Given the description of an element on the screen output the (x, y) to click on. 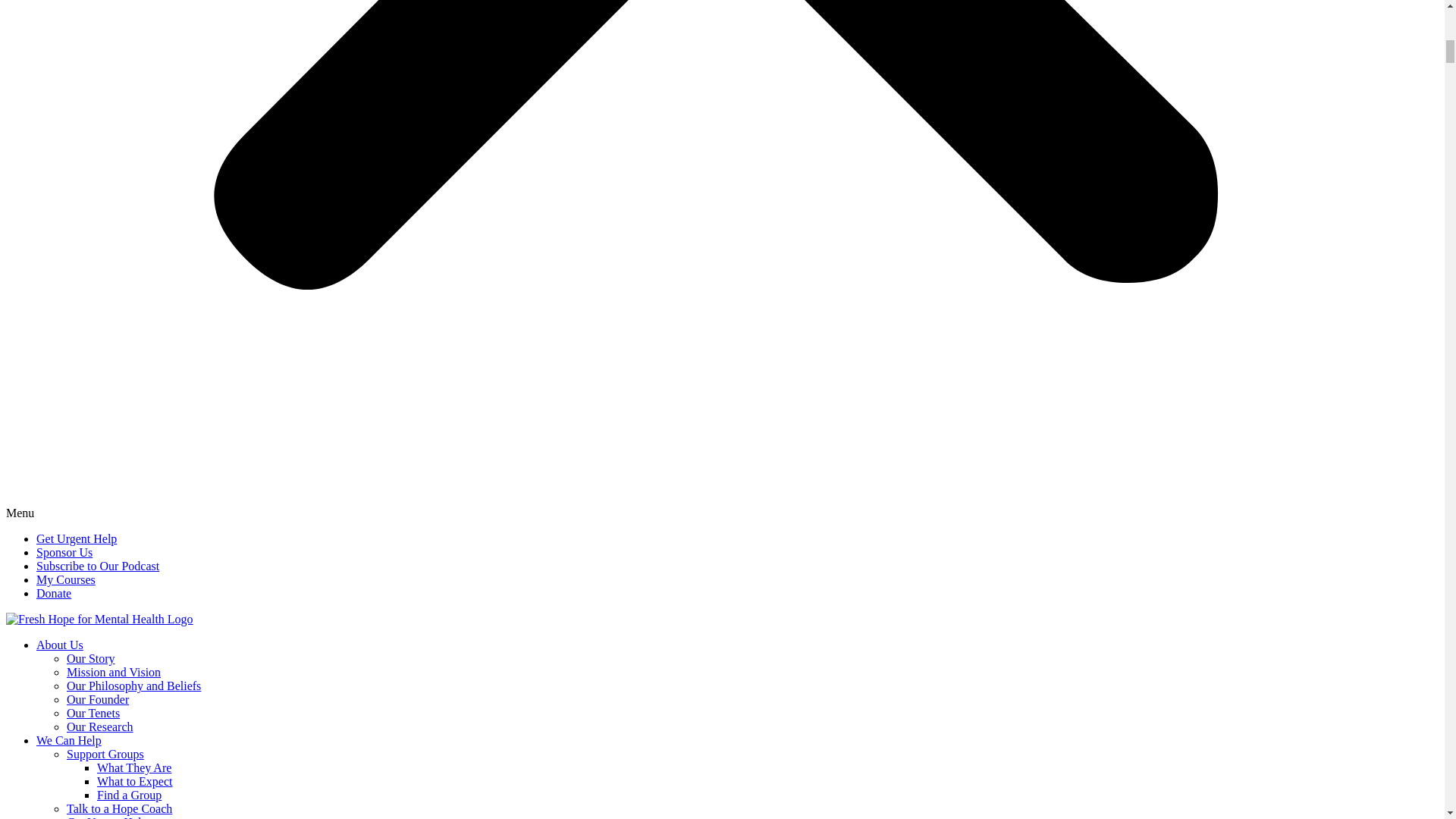
Donate (53, 593)
Talk to a Hope Coach (118, 808)
Our Tenets (92, 712)
Support Groups (105, 753)
We Can Help (68, 739)
Subscribe to Our Podcast (97, 565)
What to Expect (135, 780)
About Us (59, 644)
Our Founder (97, 698)
Mission and Vision (113, 671)
Find a Group (129, 794)
My Courses (66, 579)
Get Urgent Help (106, 817)
Get Urgent Help (76, 538)
Sponsor Us (64, 552)
